Given the description of an element on the screen output the (x, y) to click on. 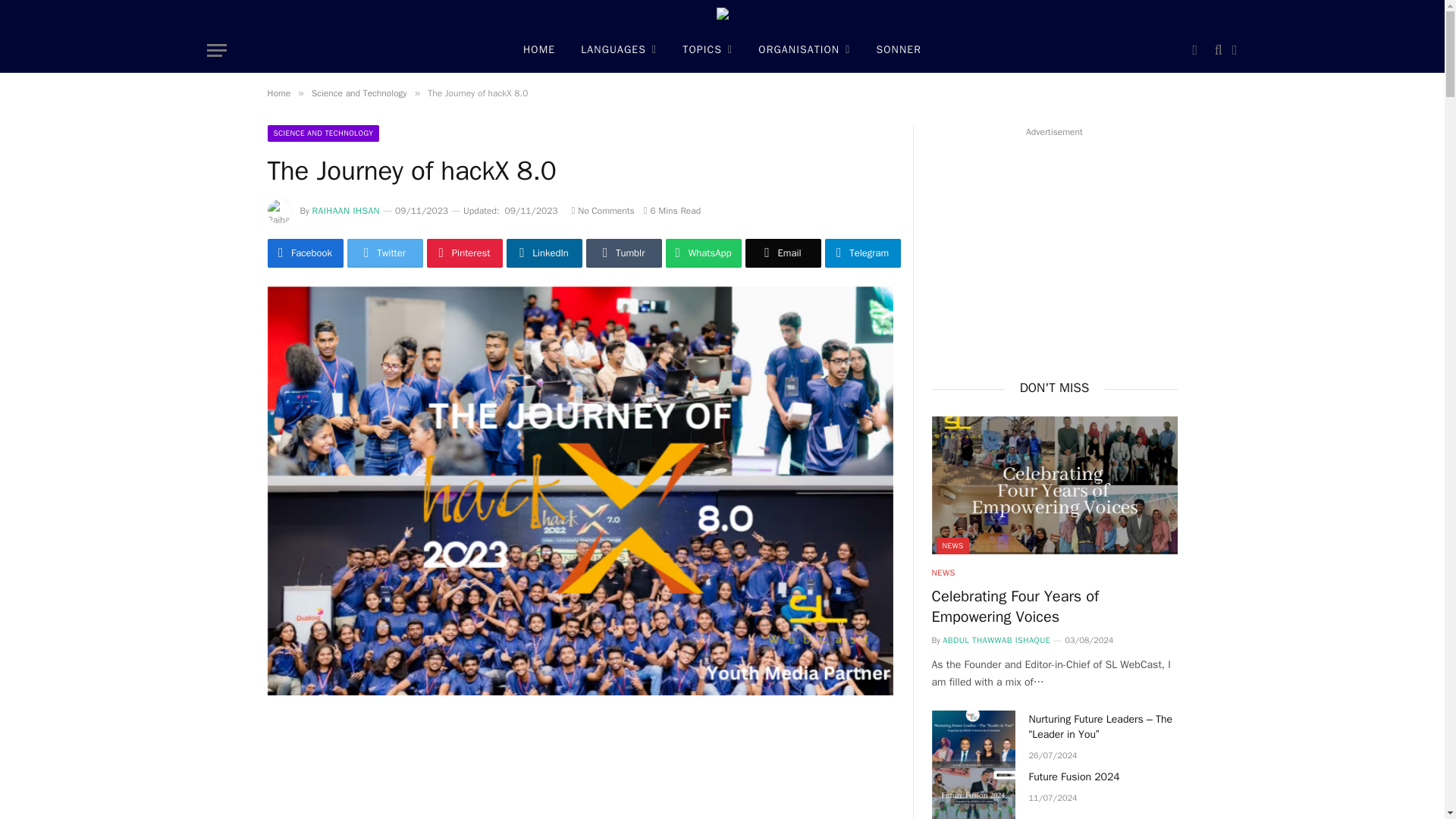
Posts by Raihaan Ihsan (346, 210)
Switch to Dark Design - easier on eyes. (1195, 49)
LANGUAGES (618, 49)
Share on Tumblr (623, 253)
HOME (539, 49)
Share on Twitter (385, 253)
TOPICS (707, 49)
Share on Facebook (304, 253)
Share on LinkedIn (544, 253)
Share on Pinterest (464, 253)
